Given the description of an element on the screen output the (x, y) to click on. 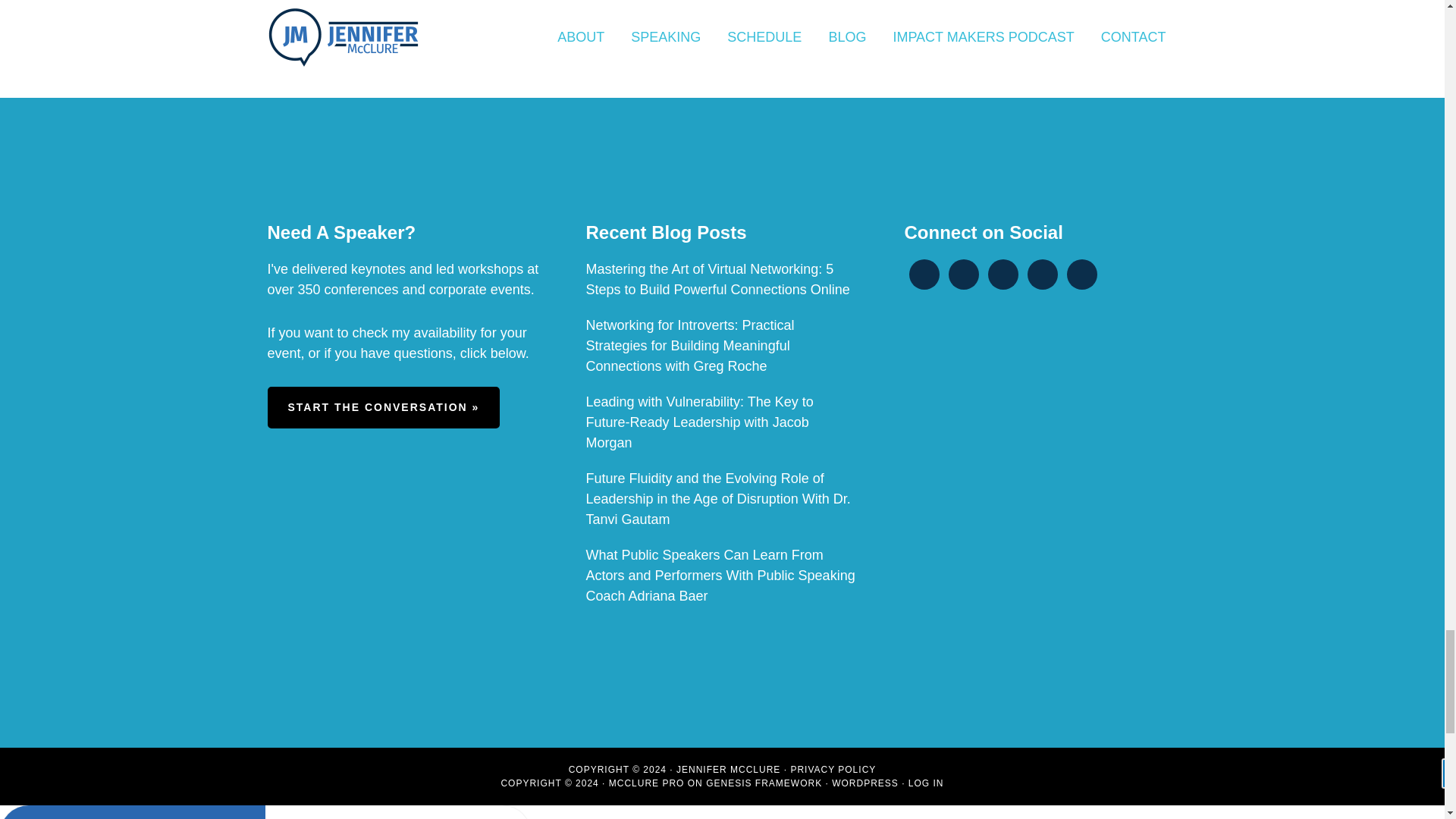
PRIVACY POLICY (833, 769)
MCCLURE PRO (646, 783)
JENNIFER MCCLURE (728, 769)
GENESIS FRAMEWORK (764, 783)
